Given the description of an element on the screen output the (x, y) to click on. 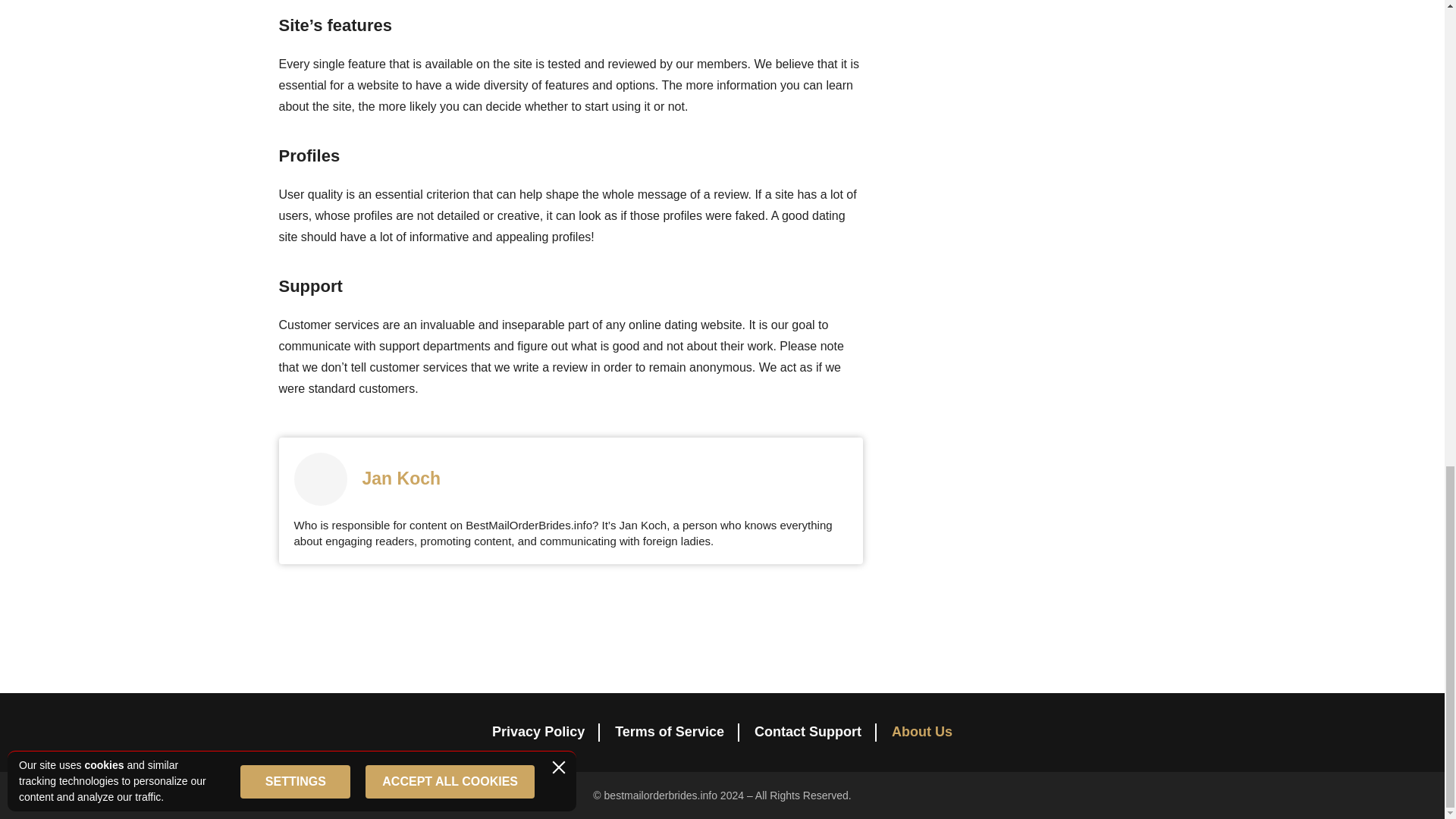
Terms of Service (668, 731)
Contact Support (807, 731)
Jan Koch (401, 478)
Privacy Policy (538, 731)
